Given the description of an element on the screen output the (x, y) to click on. 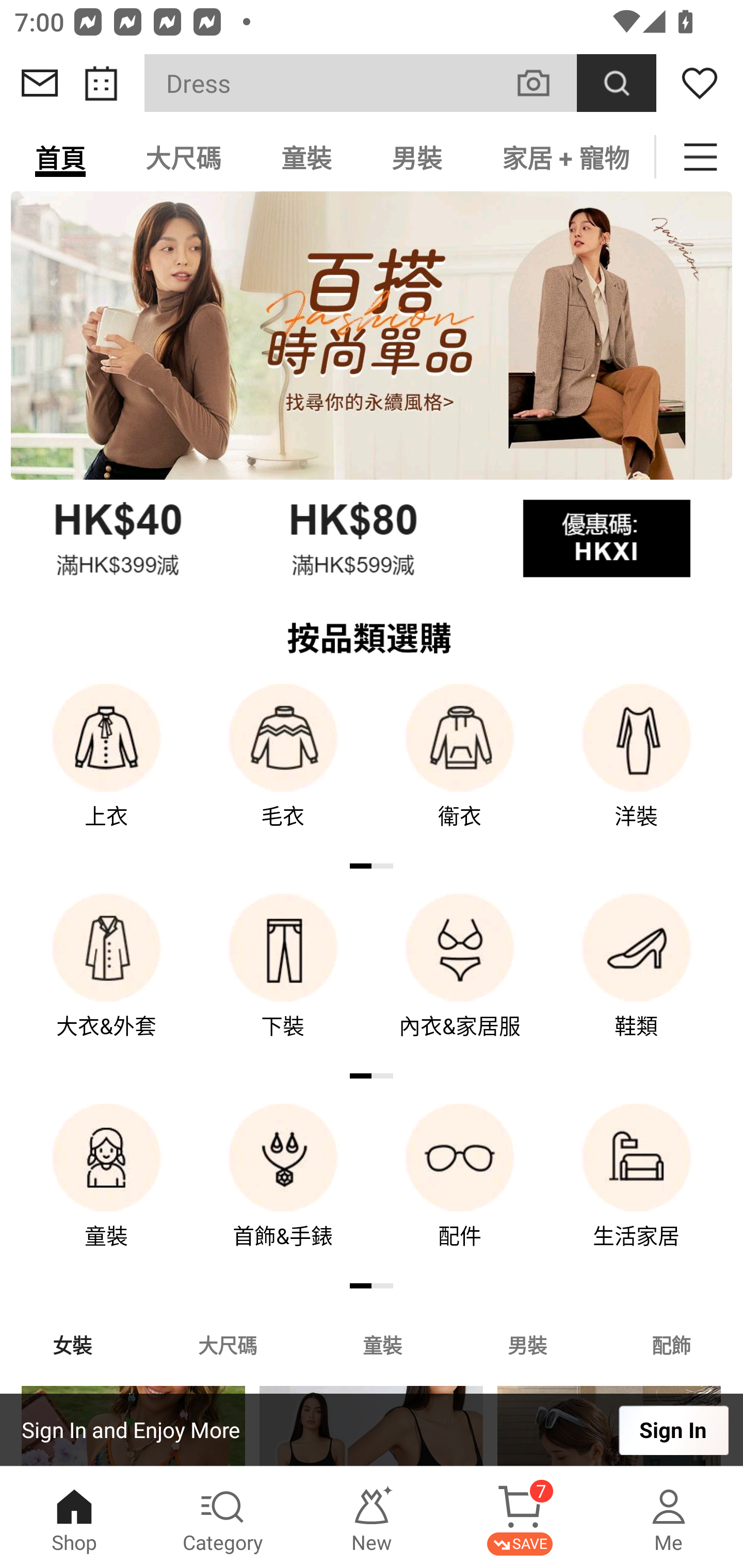
Wishlist (699, 82)
VISUAL SEARCH (543, 82)
首頁 (60, 156)
大尺碼 (183, 156)
童裝 (306, 156)
男裝 (416, 156)
家居 + 寵物 (563, 156)
上衣 (105, 769)
毛衣 (282, 769)
衛衣 (459, 769)
洋裝 (636, 769)
大衣&外套 (105, 979)
下裝 (282, 979)
內衣&家居服 (459, 979)
鞋類 (636, 979)
童裝 (105, 1189)
首飾&手錶 (282, 1189)
配件 (459, 1189)
生活家居 (636, 1189)
女裝 (72, 1344)
大尺碼 (226, 1344)
童裝 (381, 1344)
男裝 (527, 1344)
配飾 (671, 1344)
Sign In and Enjoy More Sign In (371, 1429)
Category (222, 1517)
New (371, 1517)
Cart 7 SAVE (519, 1517)
Me (668, 1517)
